Given the description of an element on the screen output the (x, y) to click on. 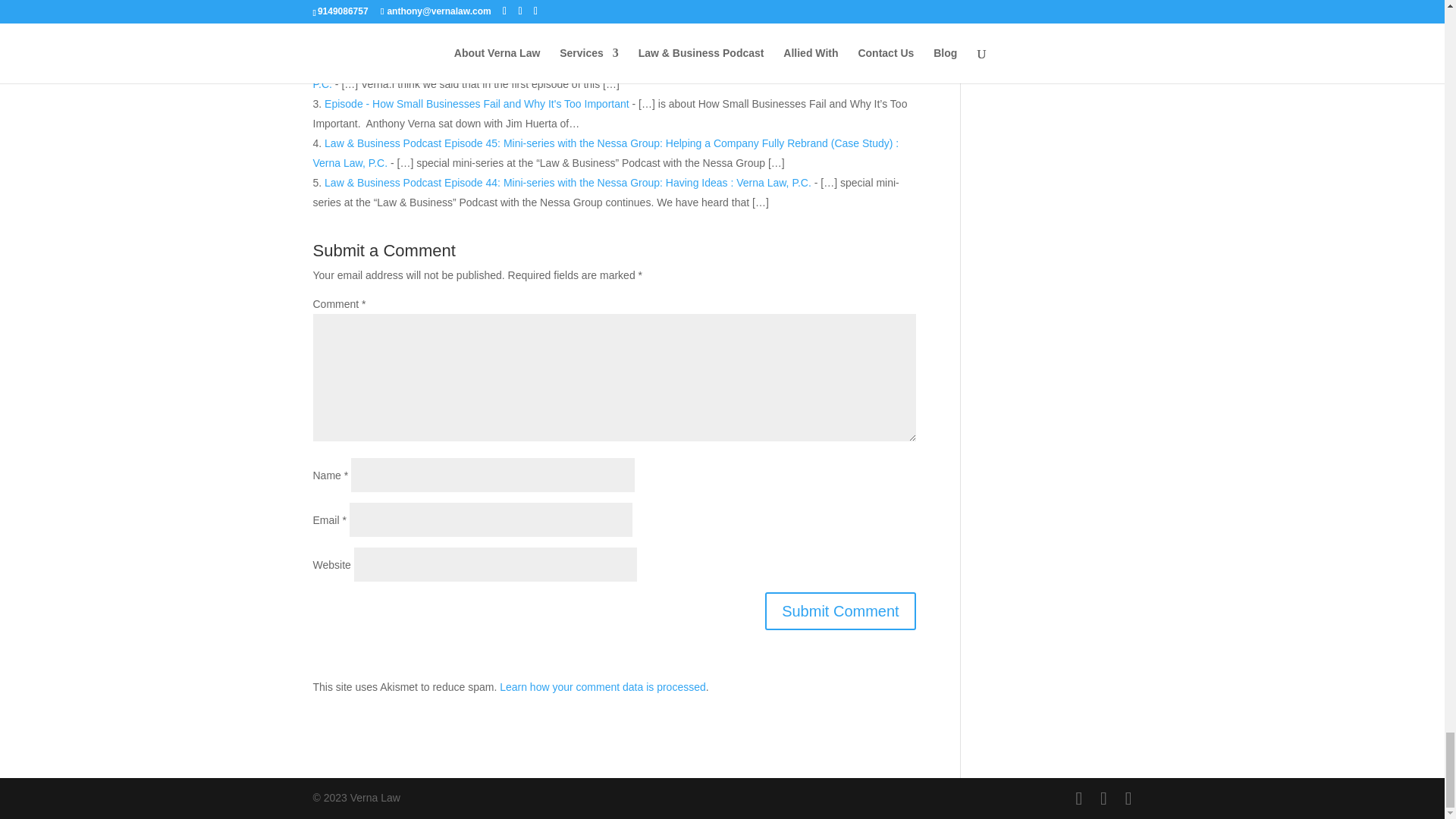
Learn how your comment data is processed (602, 686)
Submit Comment (840, 610)
Submit Comment (840, 610)
